Given the description of an element on the screen output the (x, y) to click on. 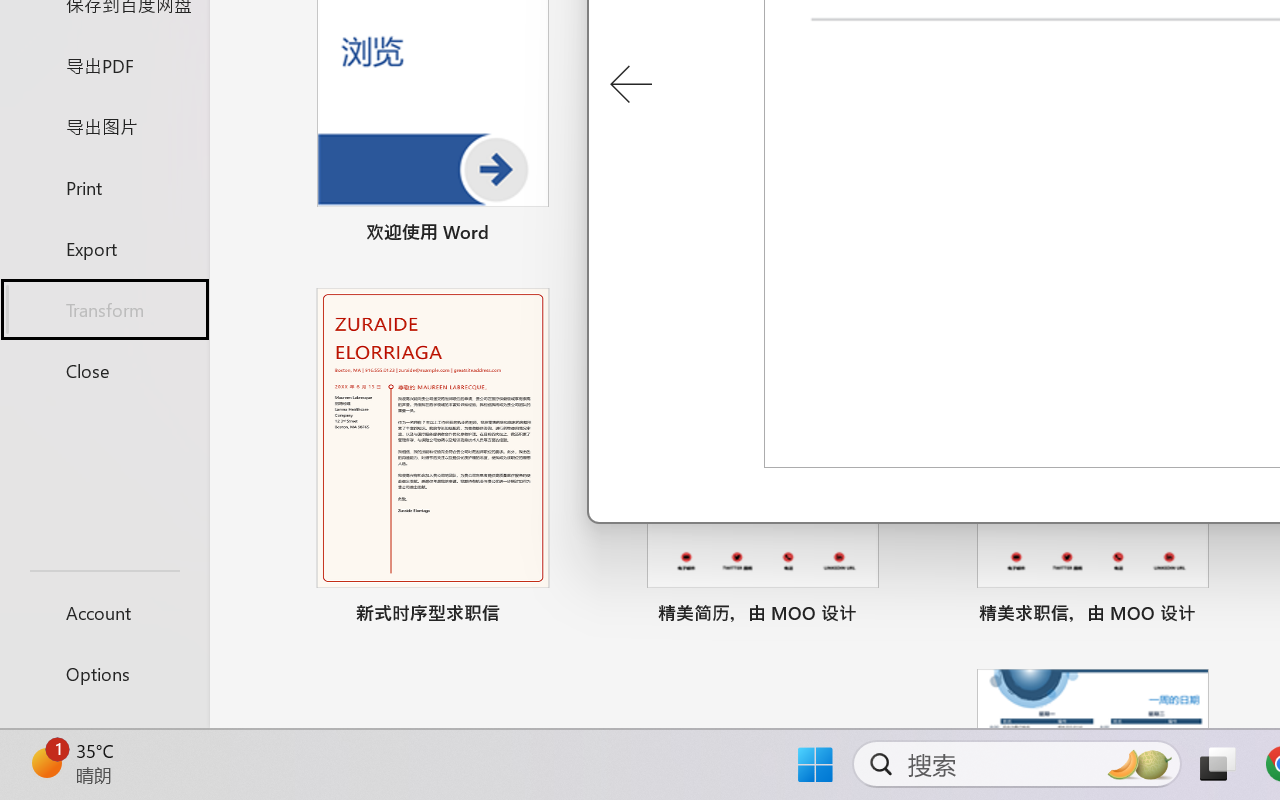
Options (104, 673)
Transform (104, 309)
Previous Template (630, 85)
Export (104, 248)
Print (104, 186)
Pin to list (1223, 616)
